Given the description of an element on the screen output the (x, y) to click on. 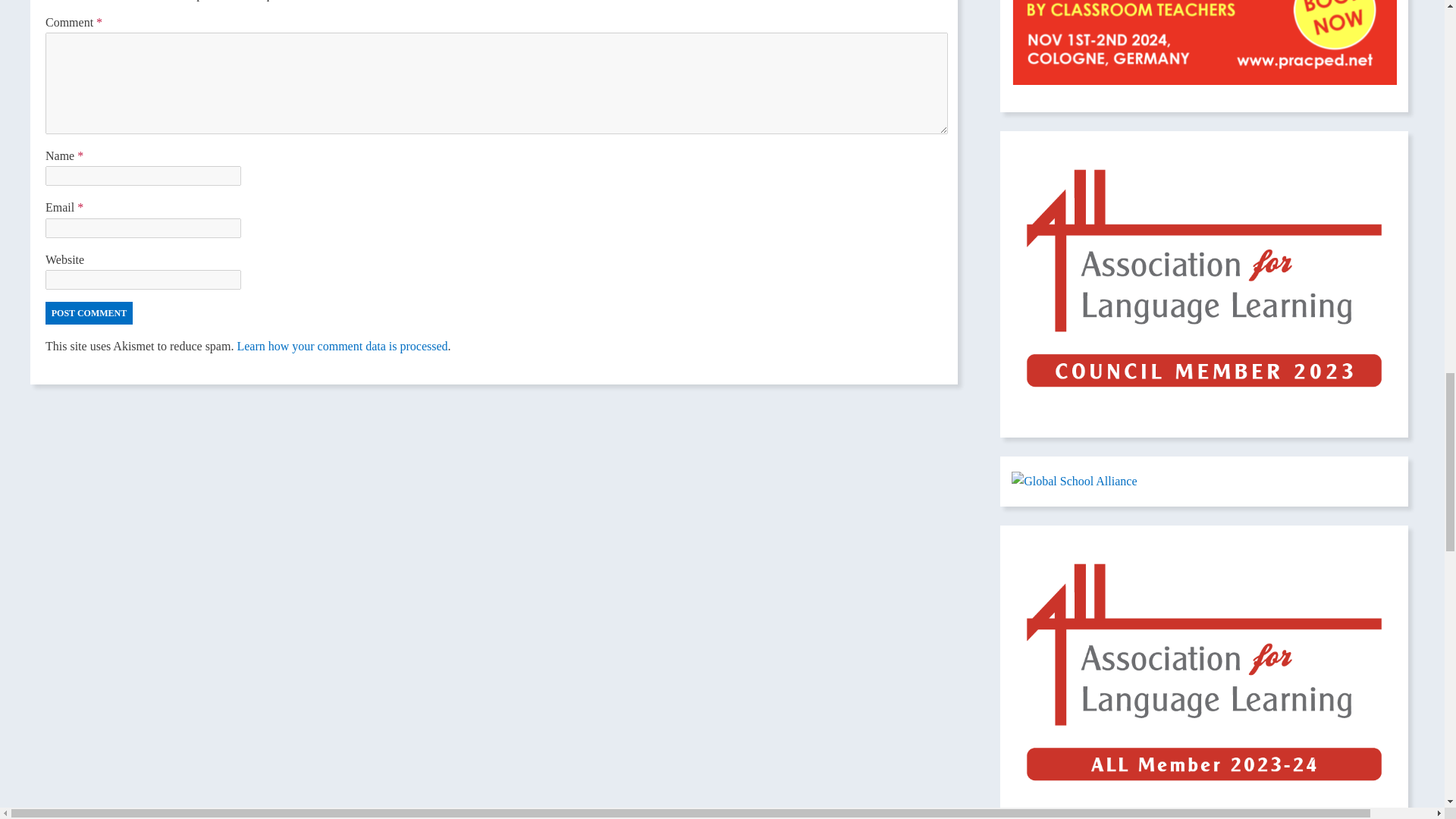
Post Comment (88, 313)
Post Comment (88, 313)
Learn how your comment data is processed (340, 345)
